Given the description of an element on the screen output the (x, y) to click on. 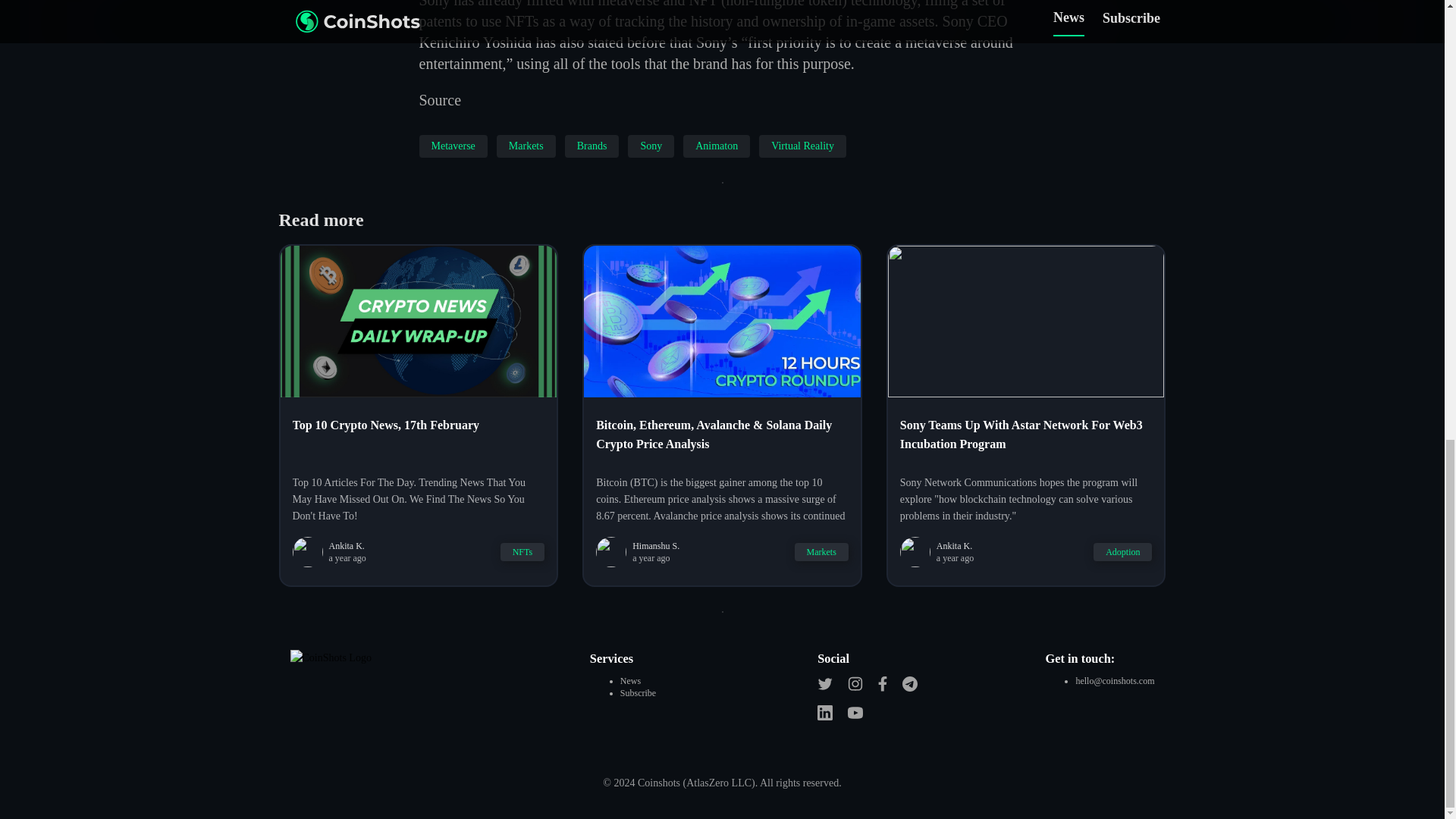
Source (440, 99)
News (630, 680)
Brands (592, 146)
Markets (526, 146)
Subscribe (638, 692)
Sony (650, 146)
Metaverse (452, 146)
Virtual Reality (801, 146)
Animaton (715, 146)
